Given the description of an element on the screen output the (x, y) to click on. 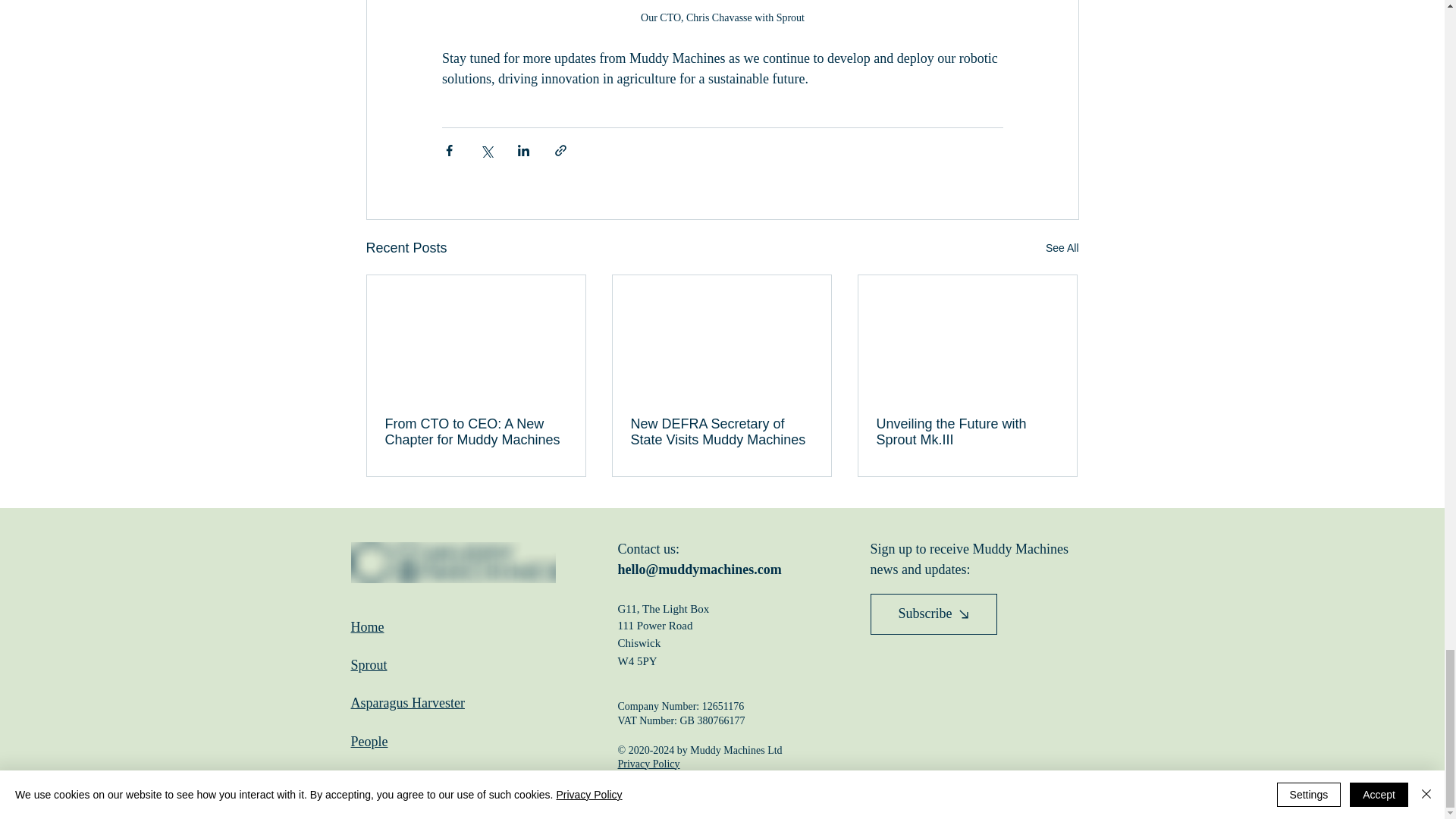
People (368, 741)
Subscribe (933, 613)
Privacy Policy (648, 763)
Unveiling the Future with Sprout Mk.III (967, 431)
New DEFRA Secretary of State Visits Muddy Machines (721, 431)
Asparagus Harvester (407, 702)
Sprout (368, 664)
From CTO to CEO: A New Chapter for Muddy Machines (476, 431)
News (365, 779)
Home (367, 626)
